Given the description of an element on the screen output the (x, y) to click on. 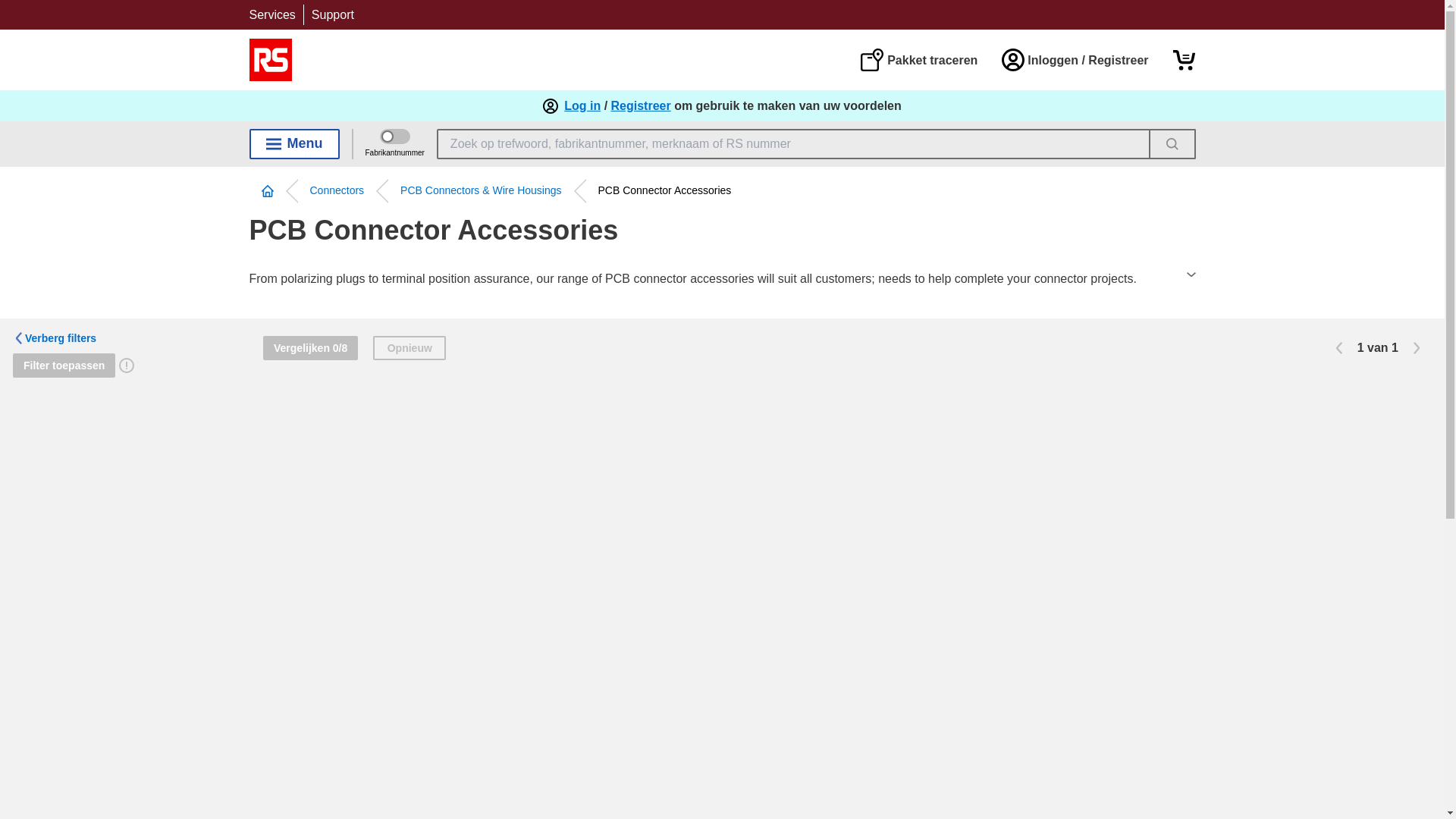
Registreer (641, 105)
Log in (581, 105)
Menu (293, 143)
Services (271, 14)
Support (332, 14)
Pakket traceren (918, 59)
